Given the description of an element on the screen output the (x, y) to click on. 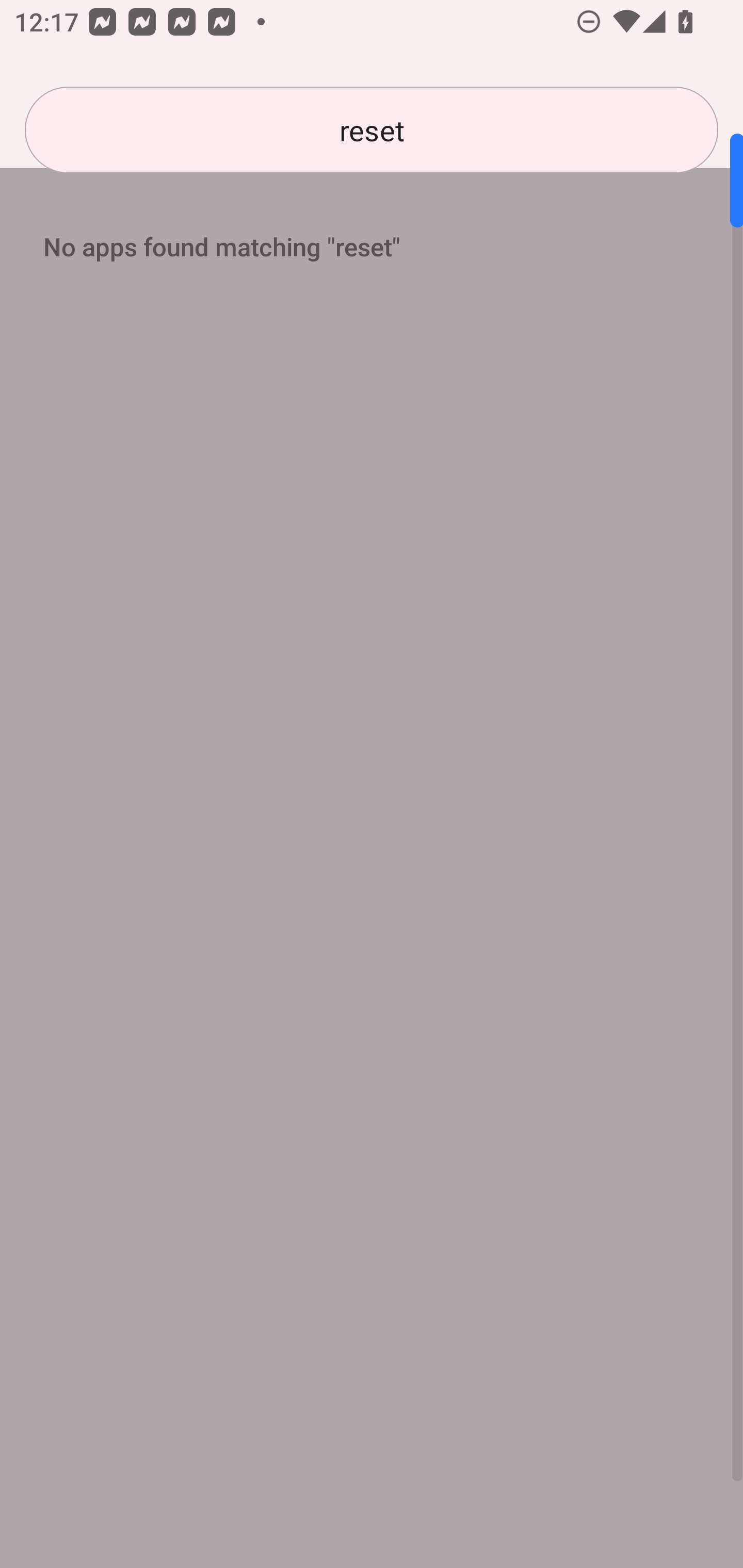
reset (371, 130)
